Given the description of an element on the screen output the (x, y) to click on. 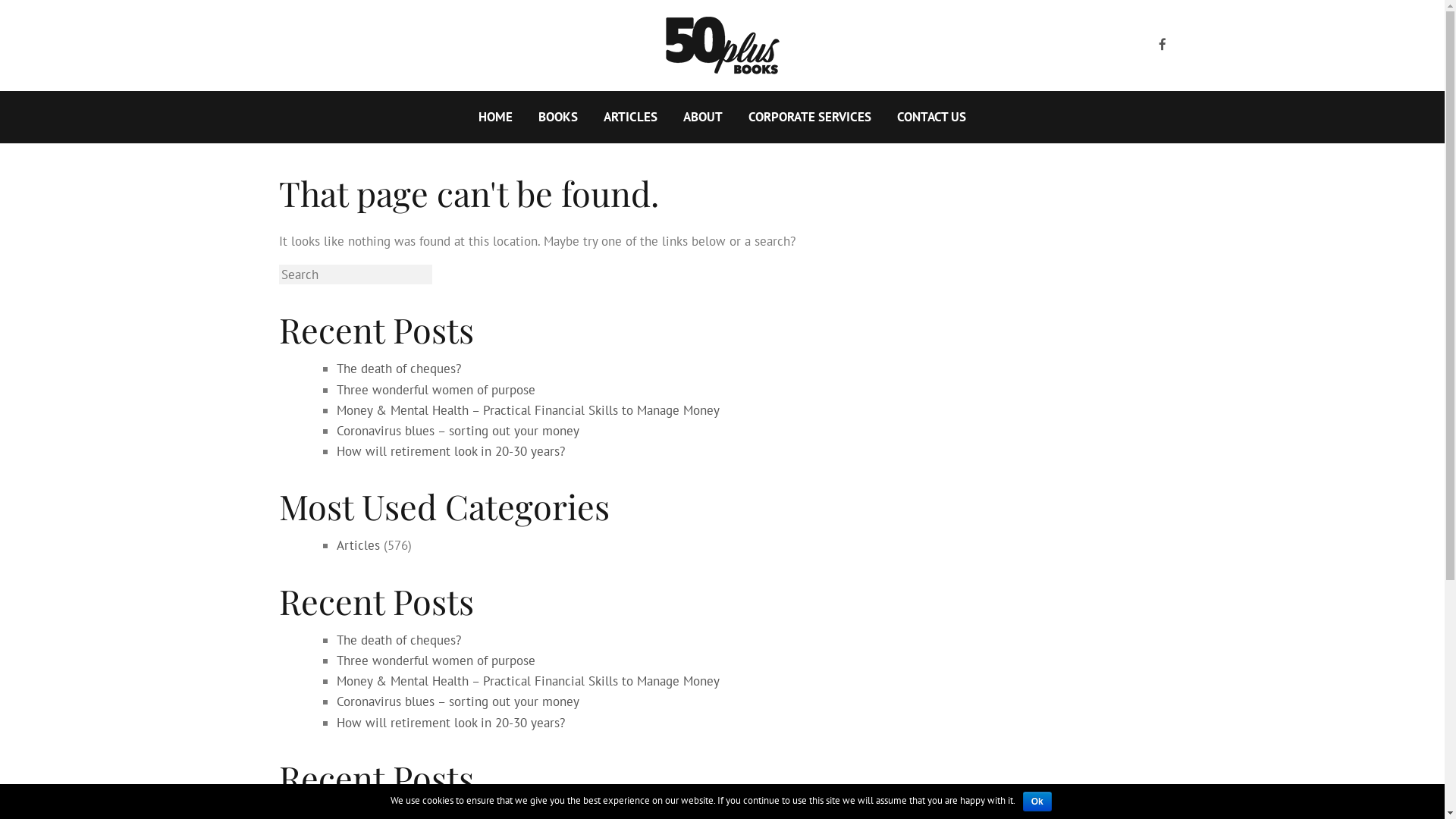
Three wonderful women of purpose Element type: text (435, 660)
How will retirement look in 20-30 years? Element type: text (450, 722)
HOME Element type: text (495, 117)
How will retirement look in 20-30 years? Element type: text (450, 450)
Articles Element type: text (357, 544)
ABOUT Element type: text (702, 117)
The death of cheques? Element type: text (398, 639)
Three wonderful women of purpose Element type: text (435, 388)
Fifty Plus Books Element type: hover (722, 45)
Ok Element type: text (1036, 801)
ARTICLES Element type: text (630, 117)
CONTACT US Element type: text (931, 117)
BOOKS Element type: text (557, 117)
The death of cheques? Element type: text (398, 368)
CORPORATE SERVICES Element type: text (809, 117)
